Given the description of an element on the screen output the (x, y) to click on. 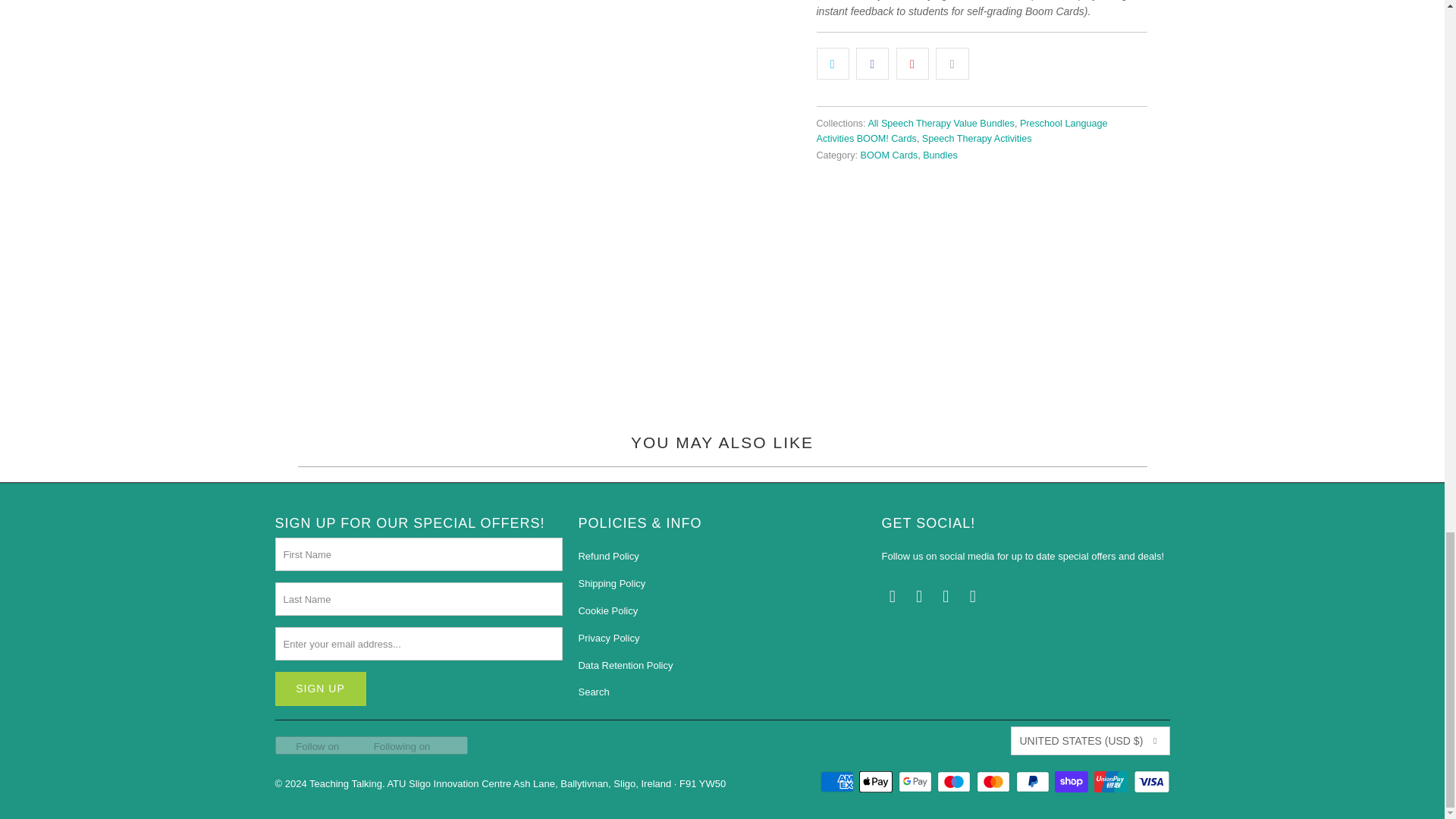
Sign Up (320, 688)
Visa (1150, 781)
Email this to a friend (952, 62)
PayPal (1034, 781)
Speech Therapy Activities (976, 138)
Shop Pay (1072, 781)
Preschool Language Activities BOOM! Cards (960, 130)
Products tagged Bundles (940, 154)
Apple Pay (877, 781)
Google Pay (916, 781)
